Given the description of an element on the screen output the (x, y) to click on. 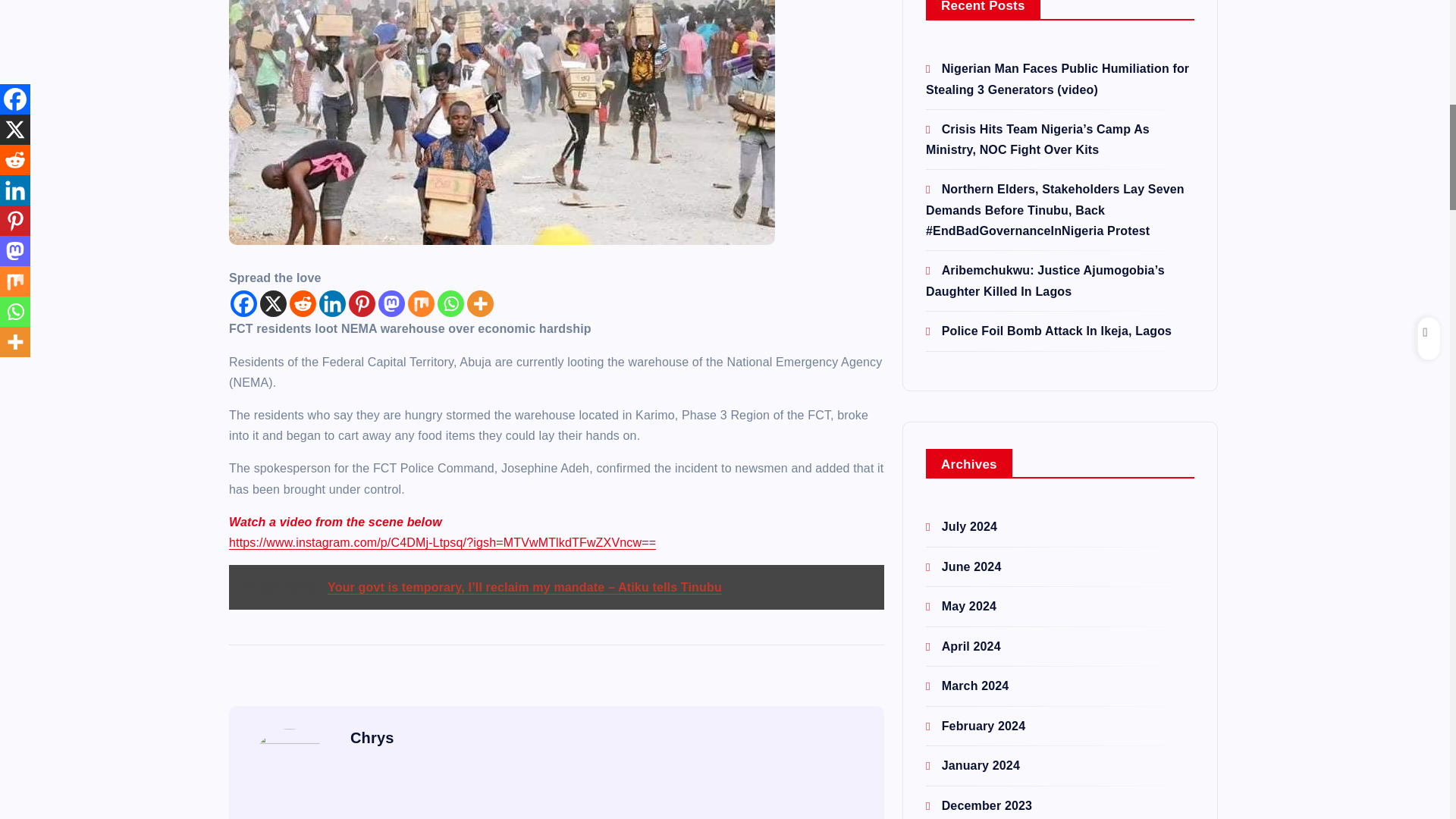
Facebook (243, 303)
Reddit (302, 303)
Pinterest (362, 303)
X (273, 303)
Linkedin (332, 303)
